Given the description of an element on the screen output the (x, y) to click on. 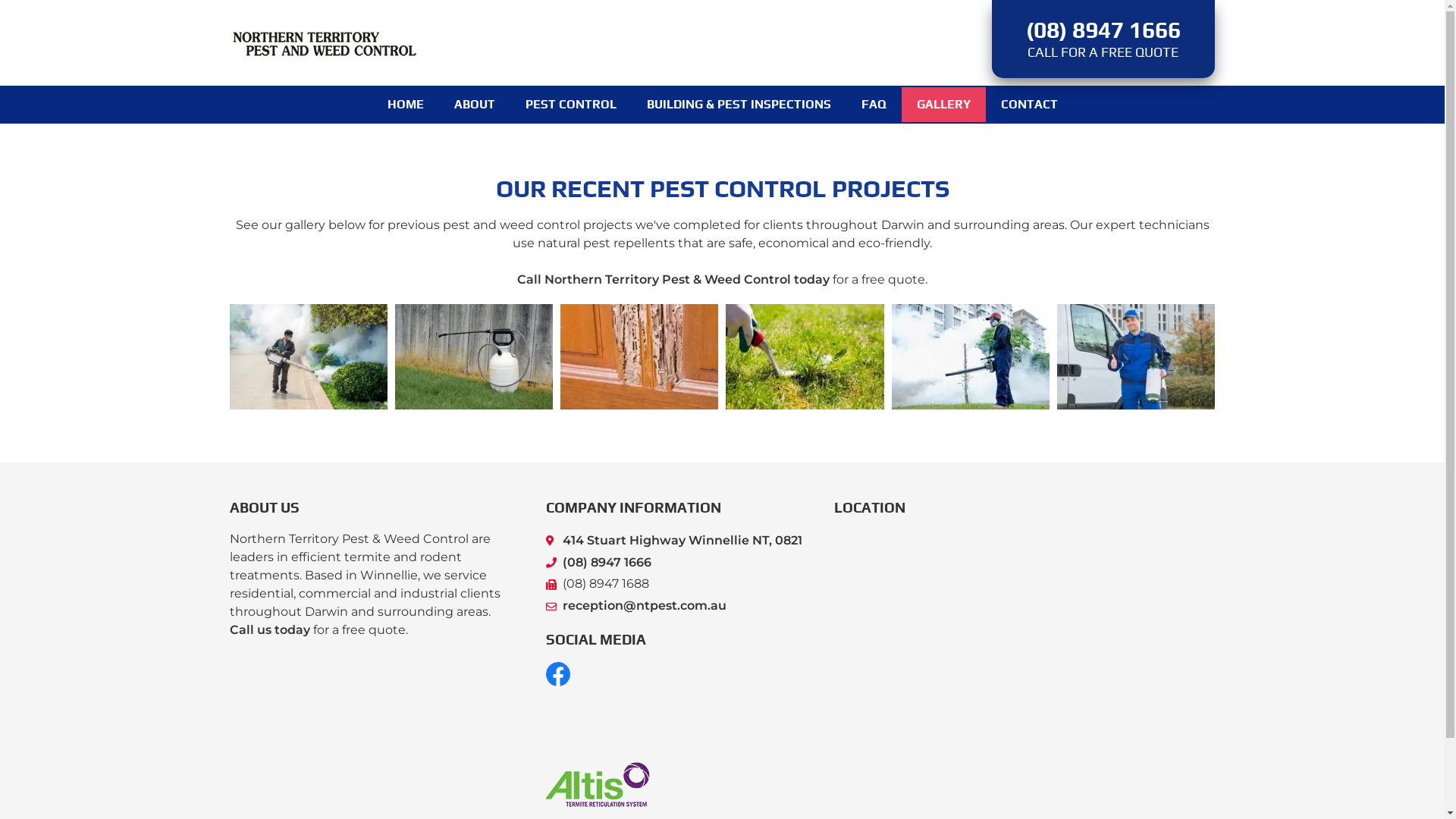
GALLERY Element type: text (942, 104)
reception@ntpest.com.au Element type: text (674, 606)
Call us today Element type: text (269, 629)
ABOUT Element type: text (473, 104)
(08) 8947 1666 Element type: text (674, 563)
414 Stuart Hwy, Winnellie NT 0820, Australia Element type: hover (1024, 639)
HOME Element type: text (404, 104)
414 Stuart Highway Winnellie NT, 0821 Element type: text (674, 541)
FAQ Element type: text (873, 104)
Altis Termite Reticulation System Element type: hover (597, 784)
PEST CONTROL Element type: text (569, 104)
BUILDING & PEST INSPECTIONS Element type: text (737, 104)
Call Northern Territory Pest & Weed Control today Element type: text (673, 279)
CONTACT Element type: text (1029, 104)
(08) 8947 1666 Element type: text (1103, 29)
Northern Territory Pest And Weed Control Element type: hover (323, 43)
